Given the description of an element on the screen output the (x, y) to click on. 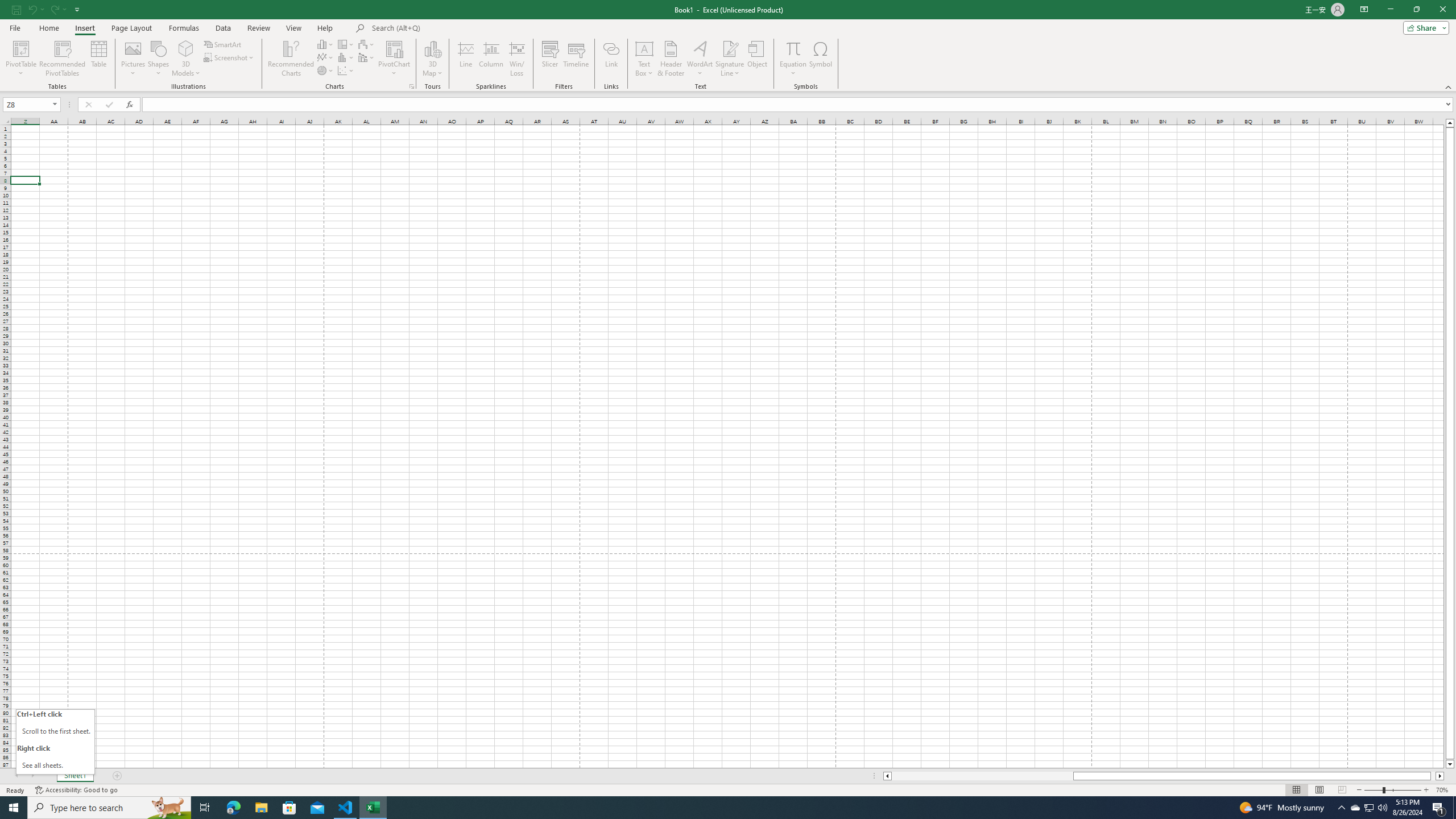
Microsoft search (450, 28)
3D Map (432, 48)
Formula Bar (798, 104)
Object... (757, 58)
Line (465, 58)
3D Models (186, 58)
